Given the description of an element on the screen output the (x, y) to click on. 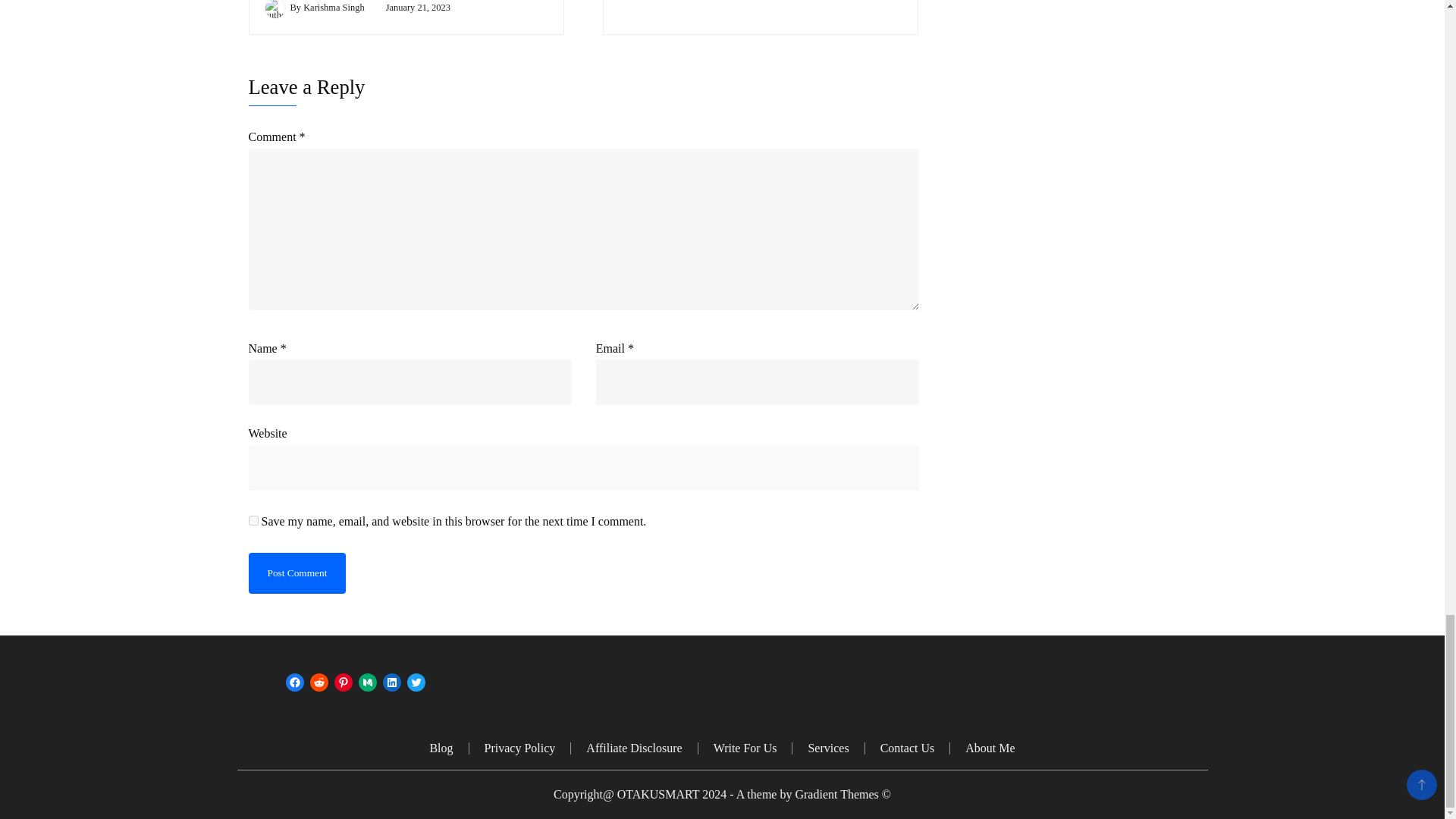
Post Comment (297, 572)
yes (253, 520)
